Given the description of an element on the screen output the (x, y) to click on. 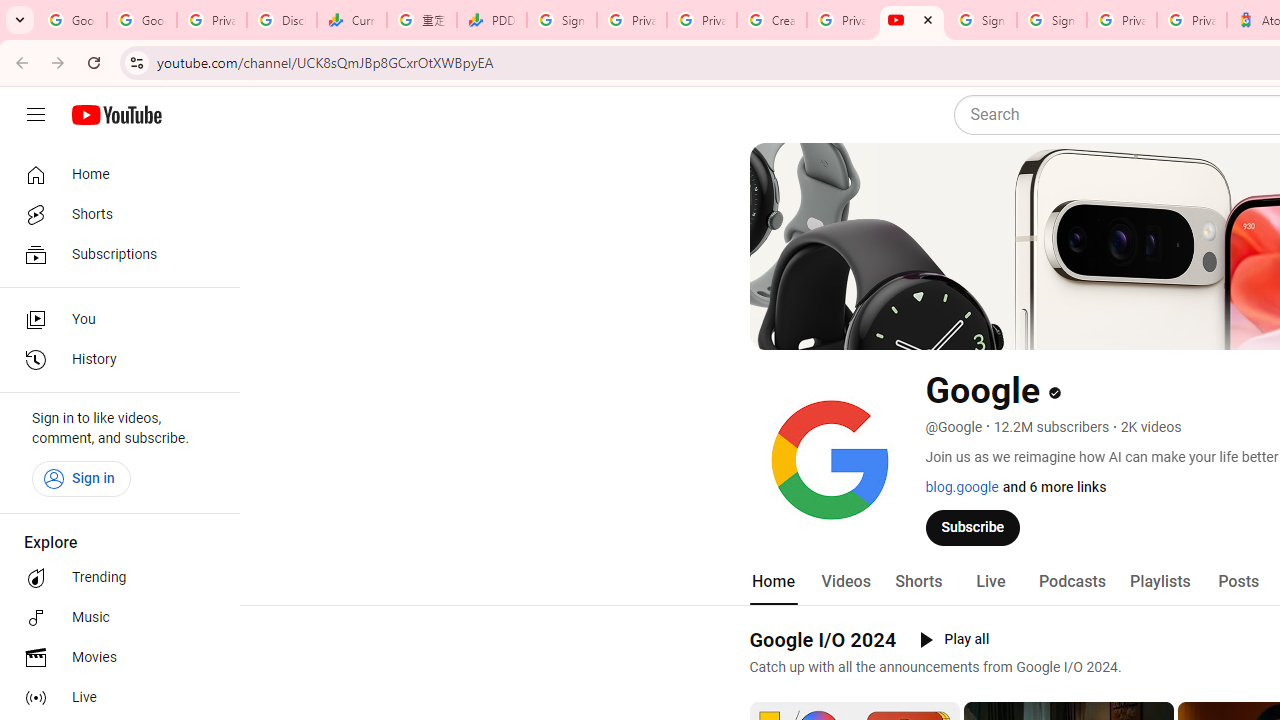
Google Workspace Admin Community (72, 20)
Podcasts (1072, 581)
Live (113, 697)
Play all (954, 640)
blog.google (961, 487)
Currencies - Google Finance (351, 20)
Guide (35, 115)
Create your Google Account (772, 20)
Videos (845, 581)
Posts (1238, 581)
Sign in - Google Accounts (561, 20)
